Given the description of an element on the screen output the (x, y) to click on. 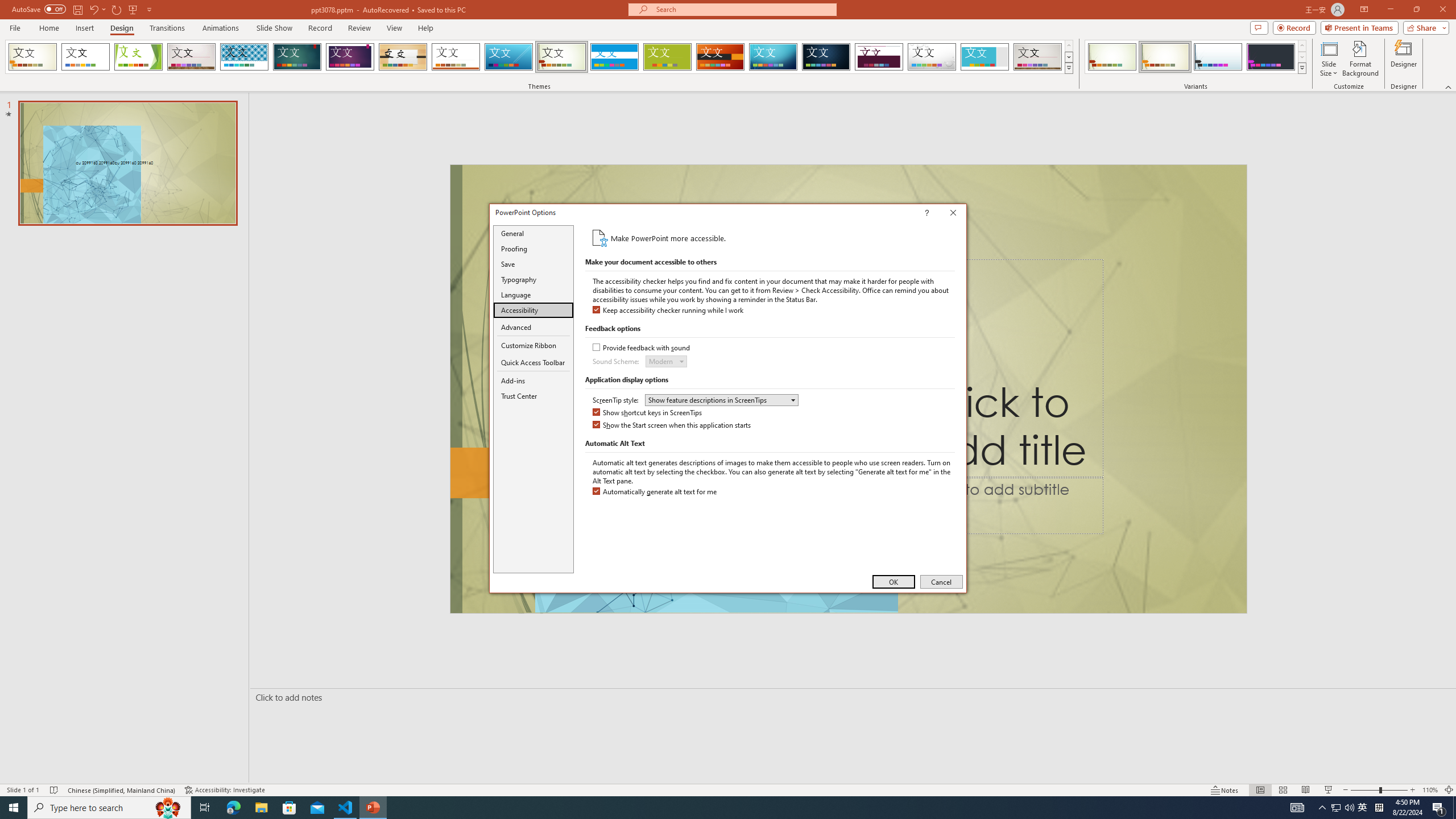
Facet (138, 56)
Language (533, 294)
AutomationID: ThemeVariantsGallery (1195, 56)
Wisp Variant 3 (1217, 56)
